Given the description of an element on the screen output the (x, y) to click on. 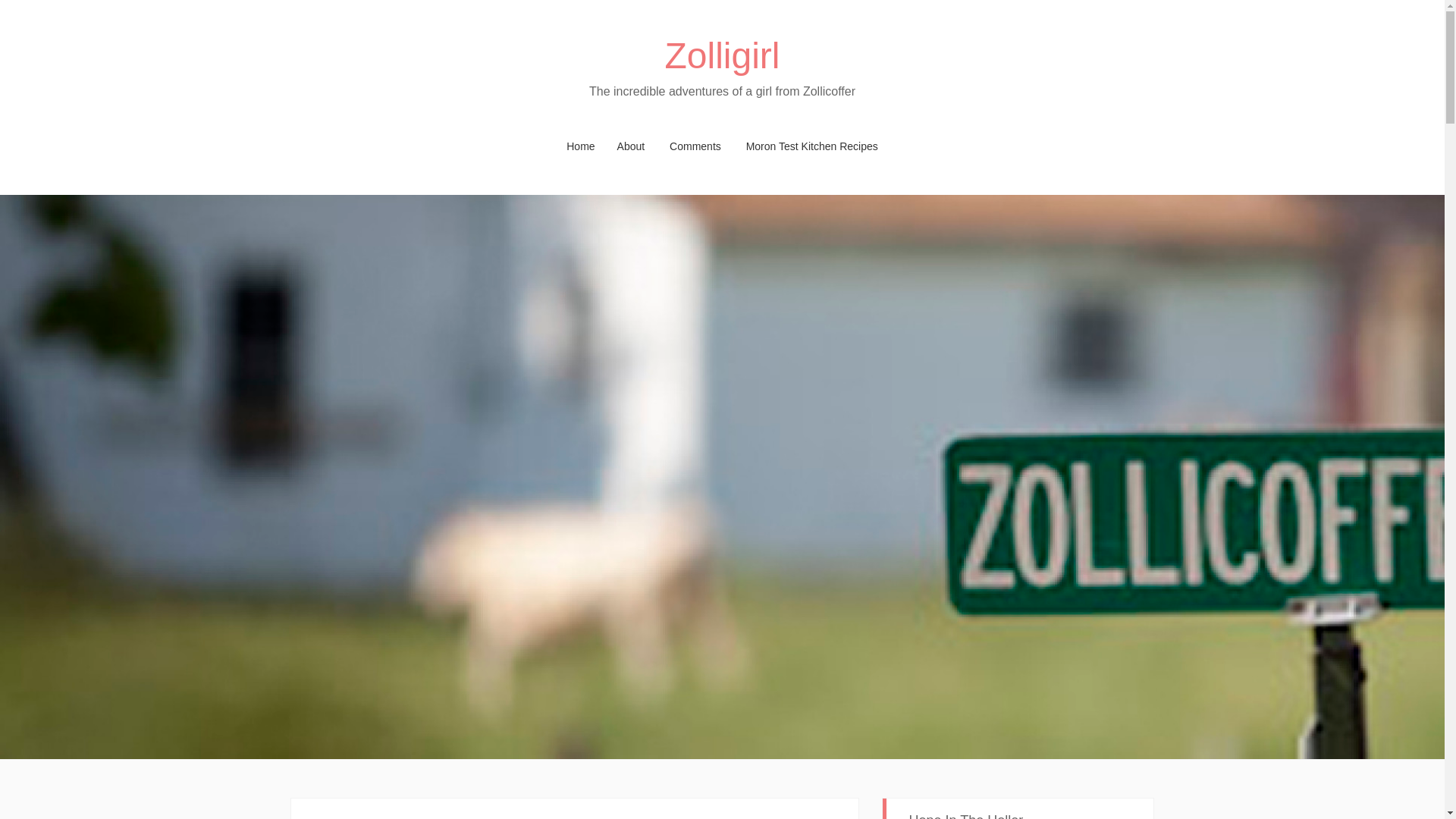
Zolligirl (720, 56)
Comments (695, 146)
Skip to content (324, 146)
Zolligirl (720, 56)
About (631, 146)
Home (580, 146)
Moron Test Kitchen Recipes (811, 146)
